Given the description of an element on the screen output the (x, y) to click on. 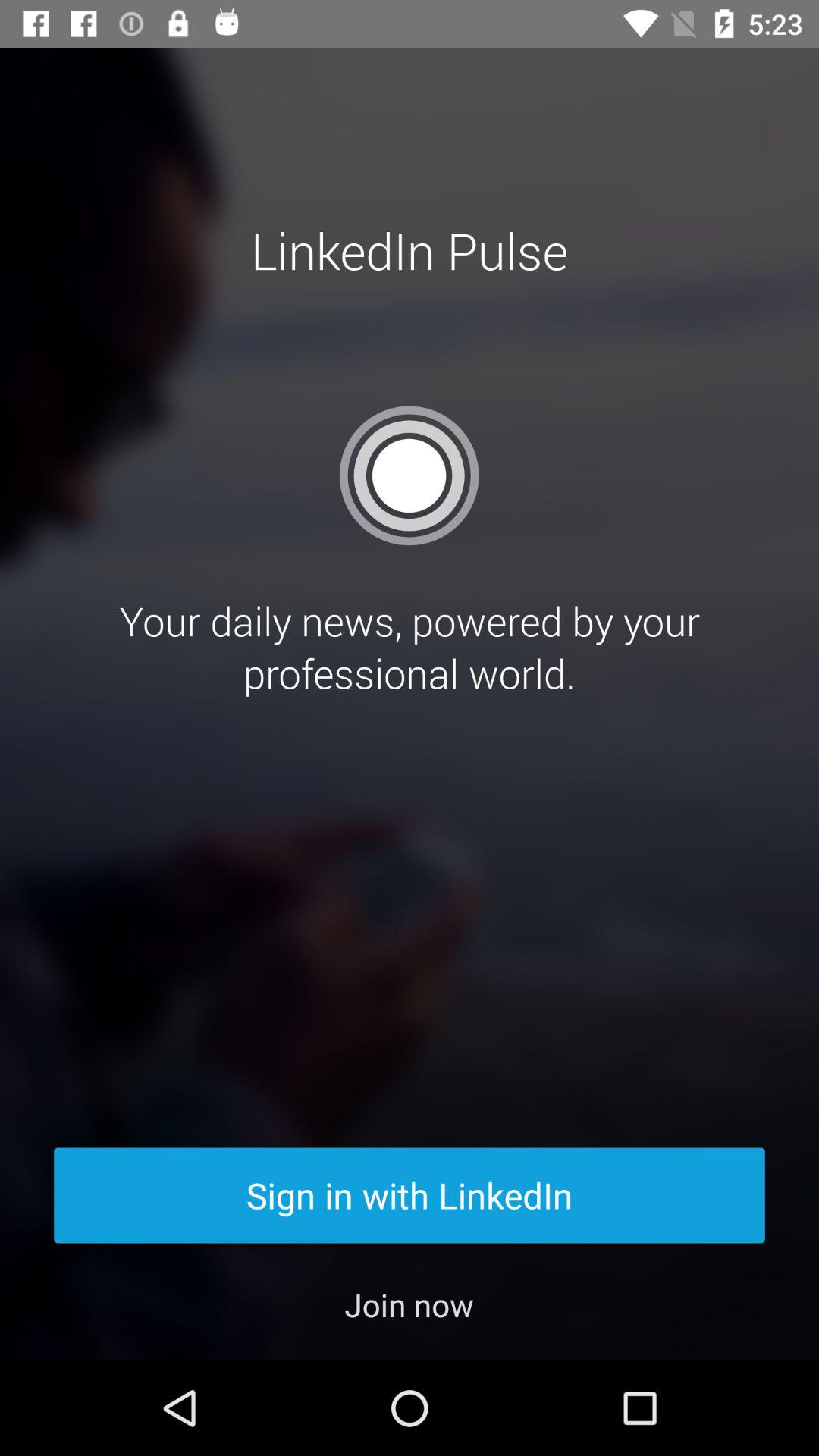
swipe until sign in with item (409, 1195)
